Given the description of an element on the screen output the (x, y) to click on. 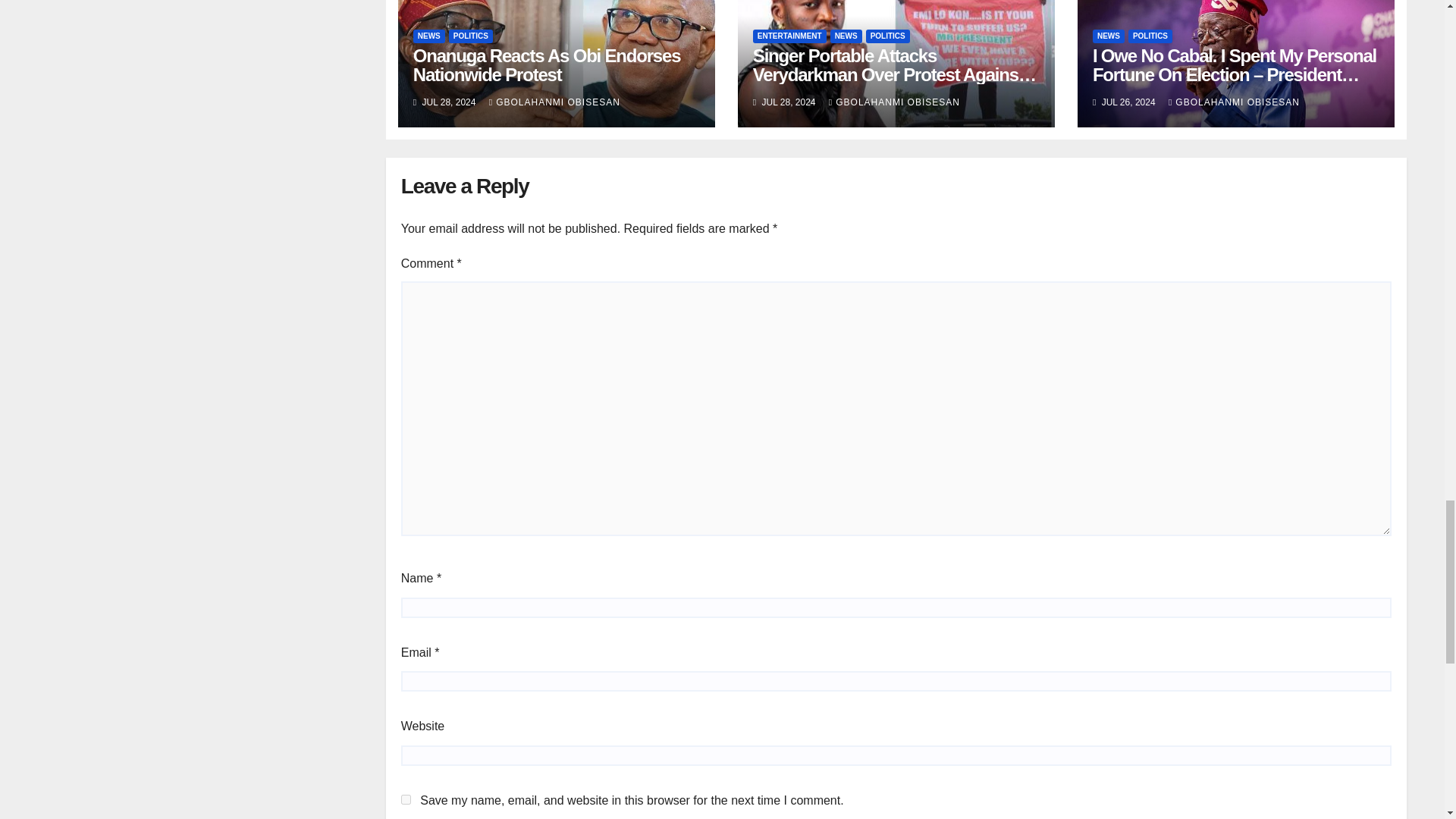
yes (405, 799)
